Given the description of an element on the screen output the (x, y) to click on. 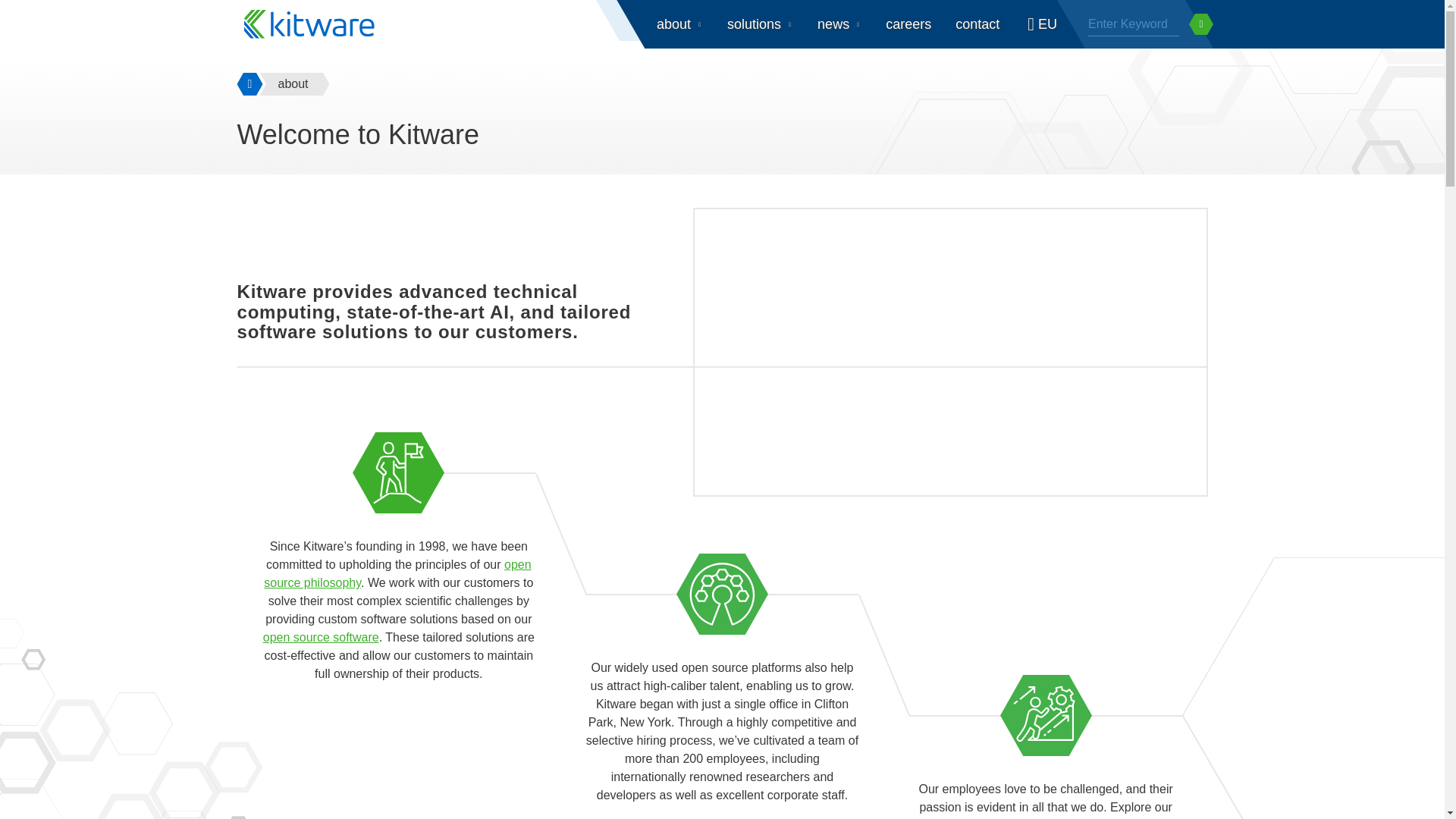
contact (976, 23)
open source software (320, 636)
open source philosophy (397, 572)
about (679, 23)
EU (1040, 23)
news (838, 23)
solutions (759, 23)
about (294, 83)
careers (908, 23)
